Given the description of an element on the screen output the (x, y) to click on. 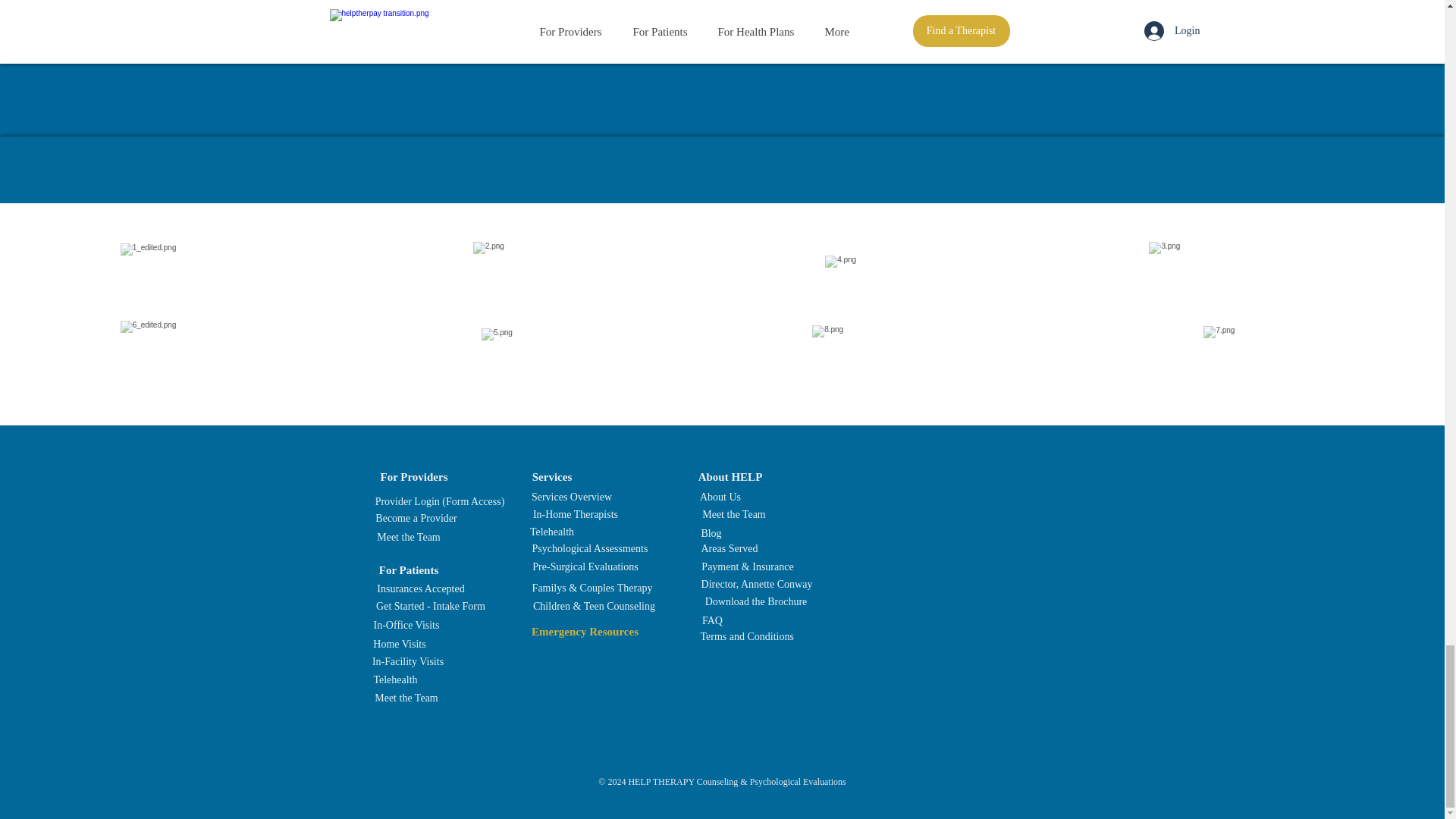
Psychological Assessments (590, 548)
In-Home Therapists (575, 514)
Services Overview (570, 497)
Telehealth (551, 531)
Services (552, 477)
